Given the description of an element on the screen output the (x, y) to click on. 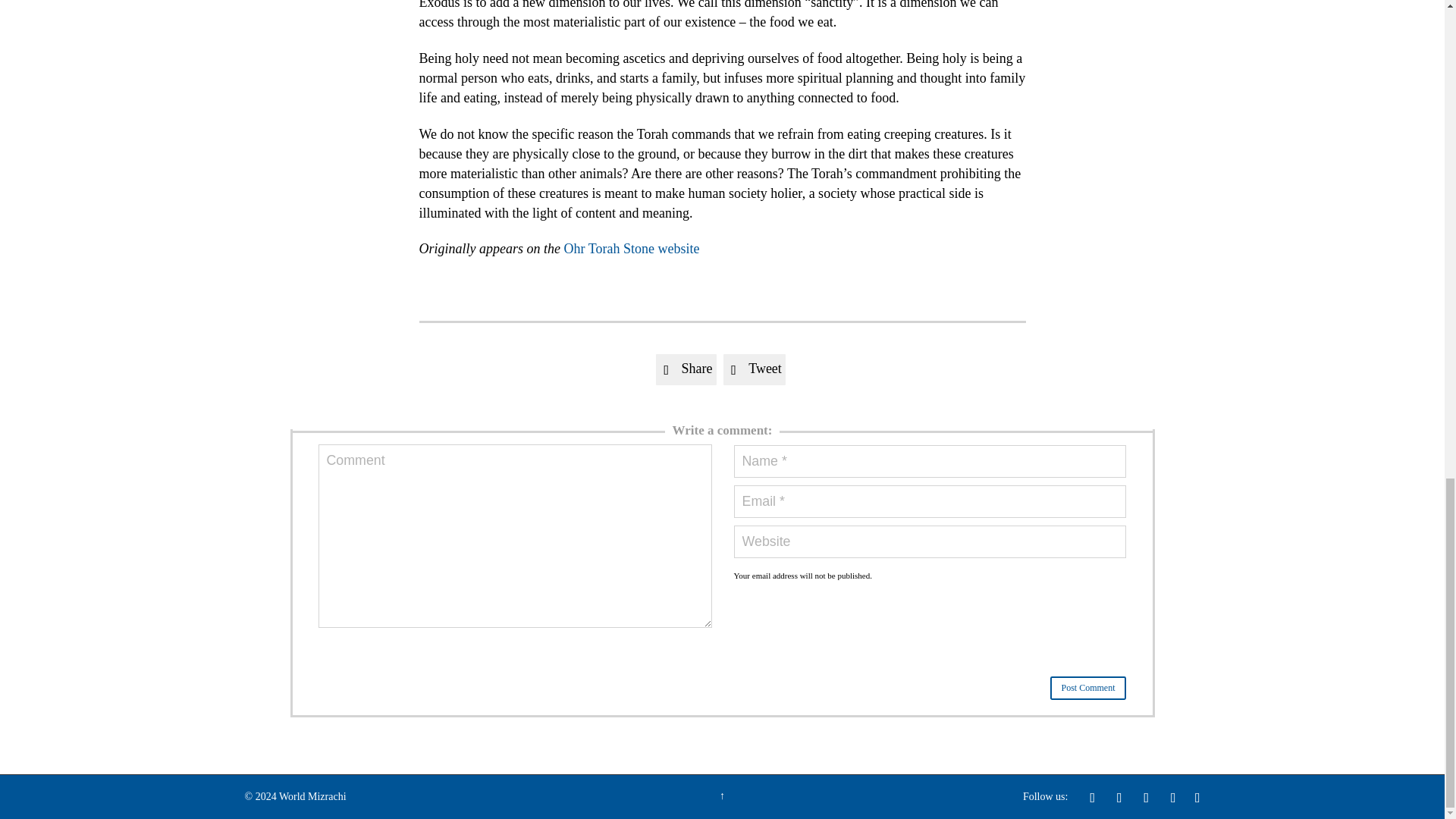
Share on Twitter (754, 368)
Post Comment (1087, 688)
Share on Facebook (686, 368)
